Given the description of an element on the screen output the (x, y) to click on. 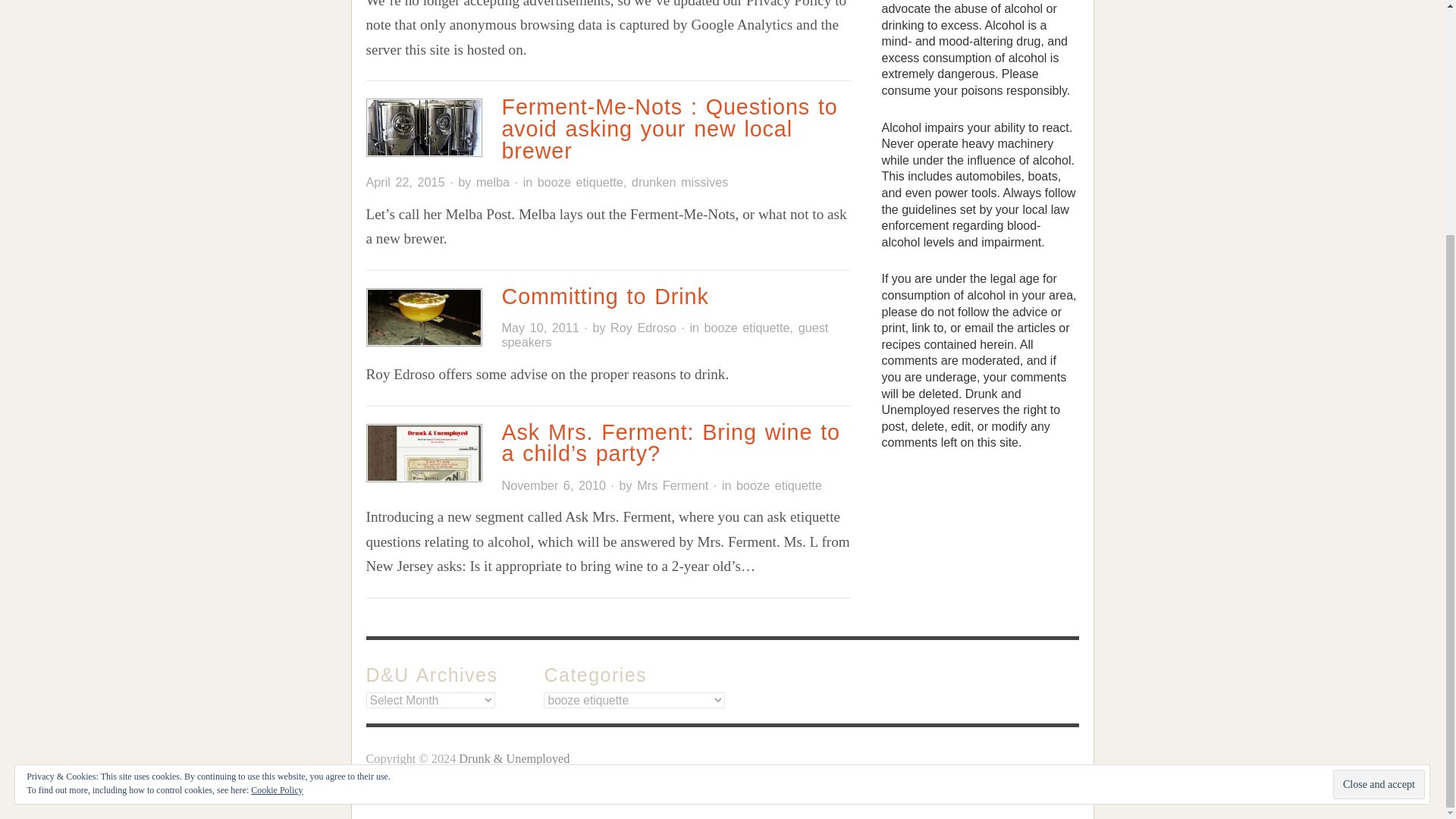
Close and accept (1379, 464)
booze etiquette (580, 182)
May 10, 2011 (539, 327)
Committing to Drink (603, 296)
booze etiquette (779, 485)
Committing to Drink (603, 296)
WordPress (453, 784)
melba (492, 182)
Close and accept (1379, 464)
